Given the description of an element on the screen output the (x, y) to click on. 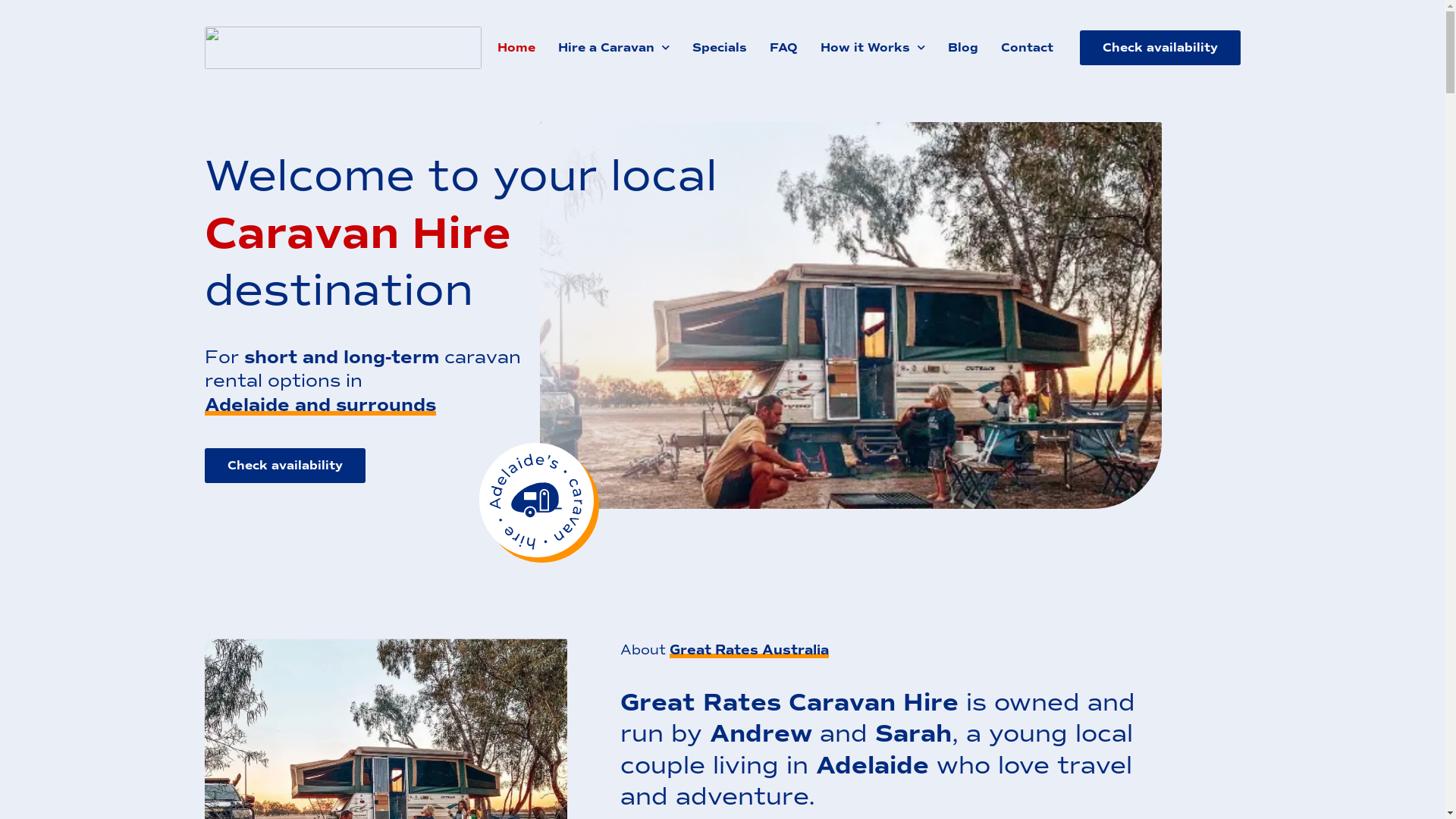
Check availability Element type: text (1159, 47)
Blog Element type: text (961, 47)
Home Element type: text (515, 47)
How it Works Element type: text (871, 47)
Check availability Element type: text (284, 465)
Hire a Caravan Element type: text (613, 47)
Specials Element type: text (719, 47)
Contact Element type: text (1025, 47)
FAQ Element type: text (783, 47)
